Given the description of an element on the screen output the (x, y) to click on. 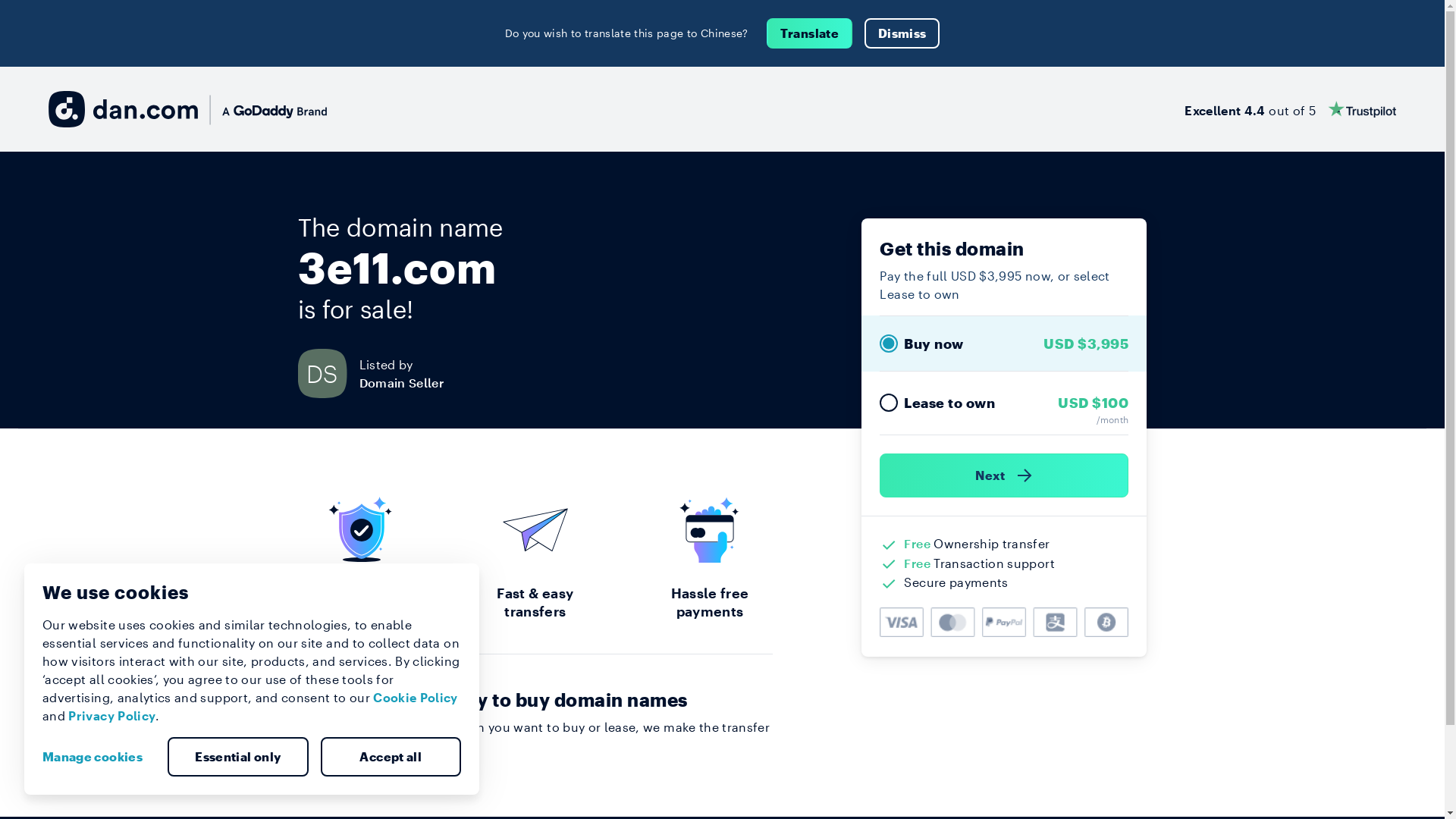
Translate Element type: text (809, 33)
Privacy Policy Element type: text (111, 715)
Next
) Element type: text (1003, 475)
Cookie Policy Element type: text (415, 697)
Excellent 4.4 out of 5 Element type: text (1290, 109)
Dismiss Element type: text (901, 33)
Manage cookies Element type: text (98, 756)
Essential only Element type: text (237, 756)
Accept all Element type: text (390, 756)
